Given the description of an element on the screen output the (x, y) to click on. 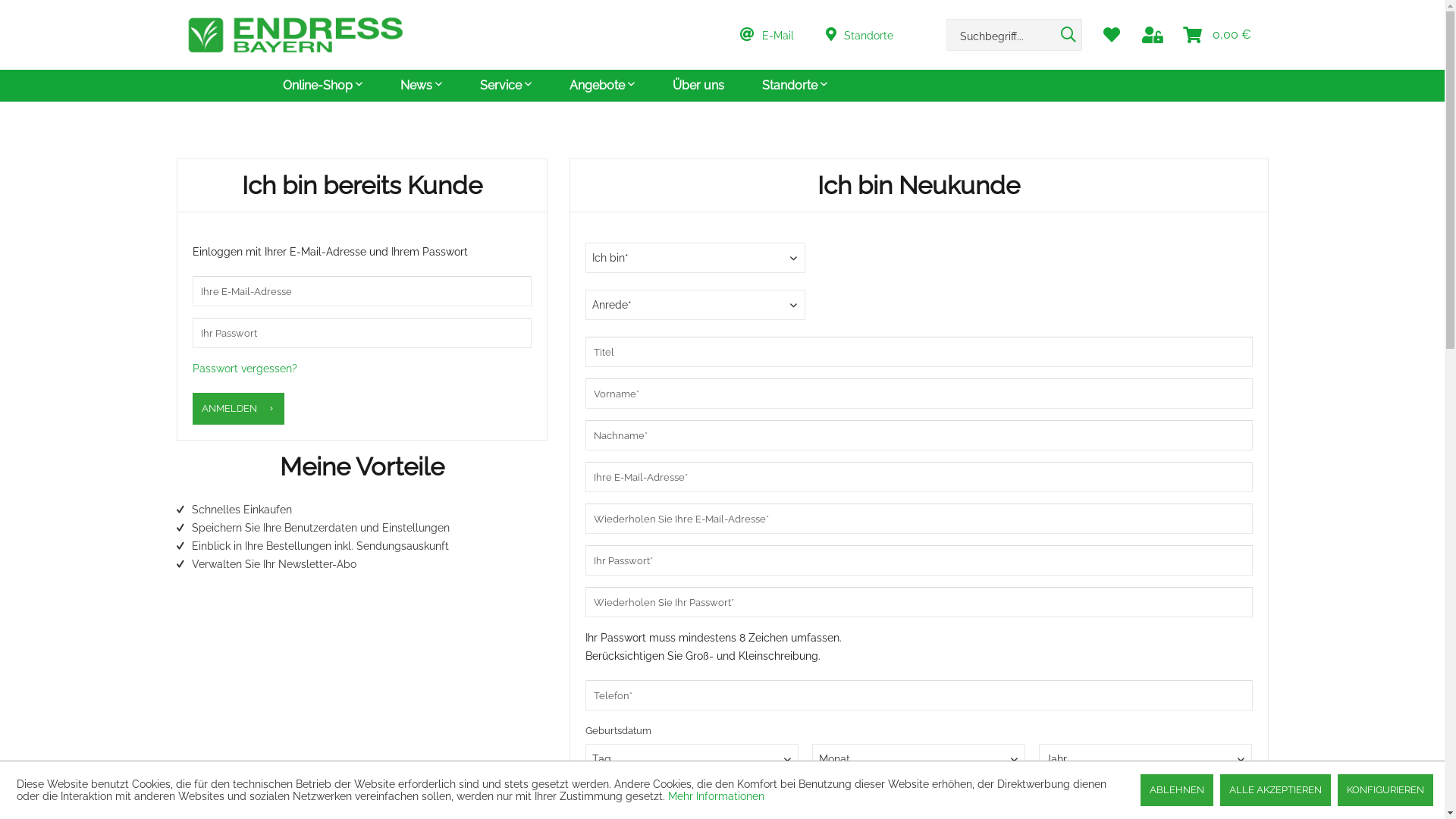
Service Element type: text (504, 85)
Standorte Element type: text (867, 35)
Standorte Element type: text (793, 85)
Online-Shop Element type: text (321, 85)
KONFIGURIEREN Element type: text (1385, 790)
E-Mail Element type: text (777, 35)
News Element type: text (420, 85)
Passwort vergessen? Element type: text (244, 368)
Angebote Element type: text (601, 85)
ANMELDEN Element type: text (238, 408)
Mehr Informationen Element type: text (716, 796)
ABLEHNEN Element type: text (1176, 790)
ALLE AKZEPTIEREN Element type: text (1275, 790)
Mein Konto Element type: hover (1152, 34)
